Given the description of an element on the screen output the (x, y) to click on. 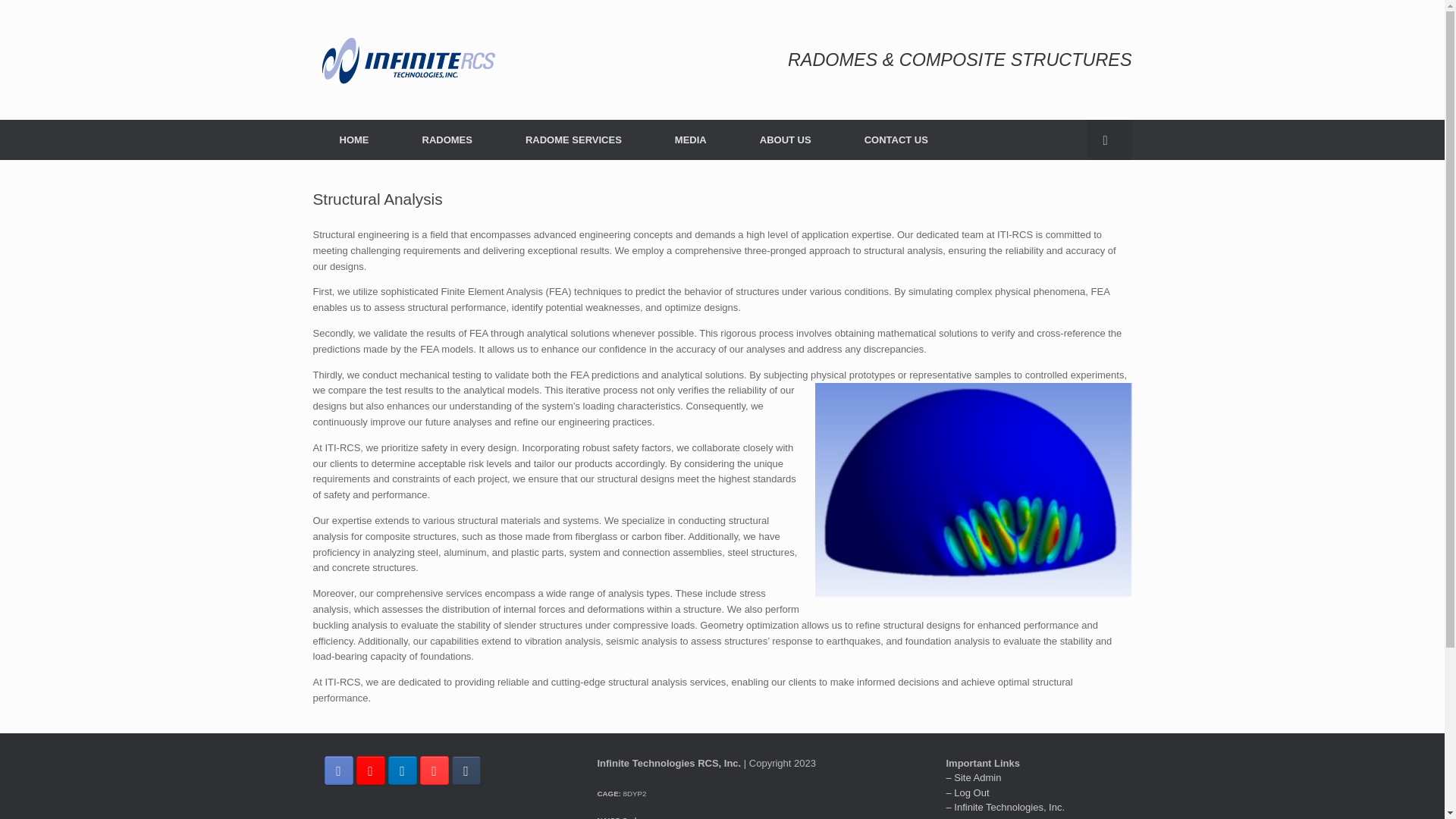
RADOME SERVICES (573, 139)
RADOMES (447, 139)
CONTACT US (896, 139)
HOME (353, 139)
ABOUT US (785, 139)
MEDIA (690, 139)
